Given the description of an element on the screen output the (x, y) to click on. 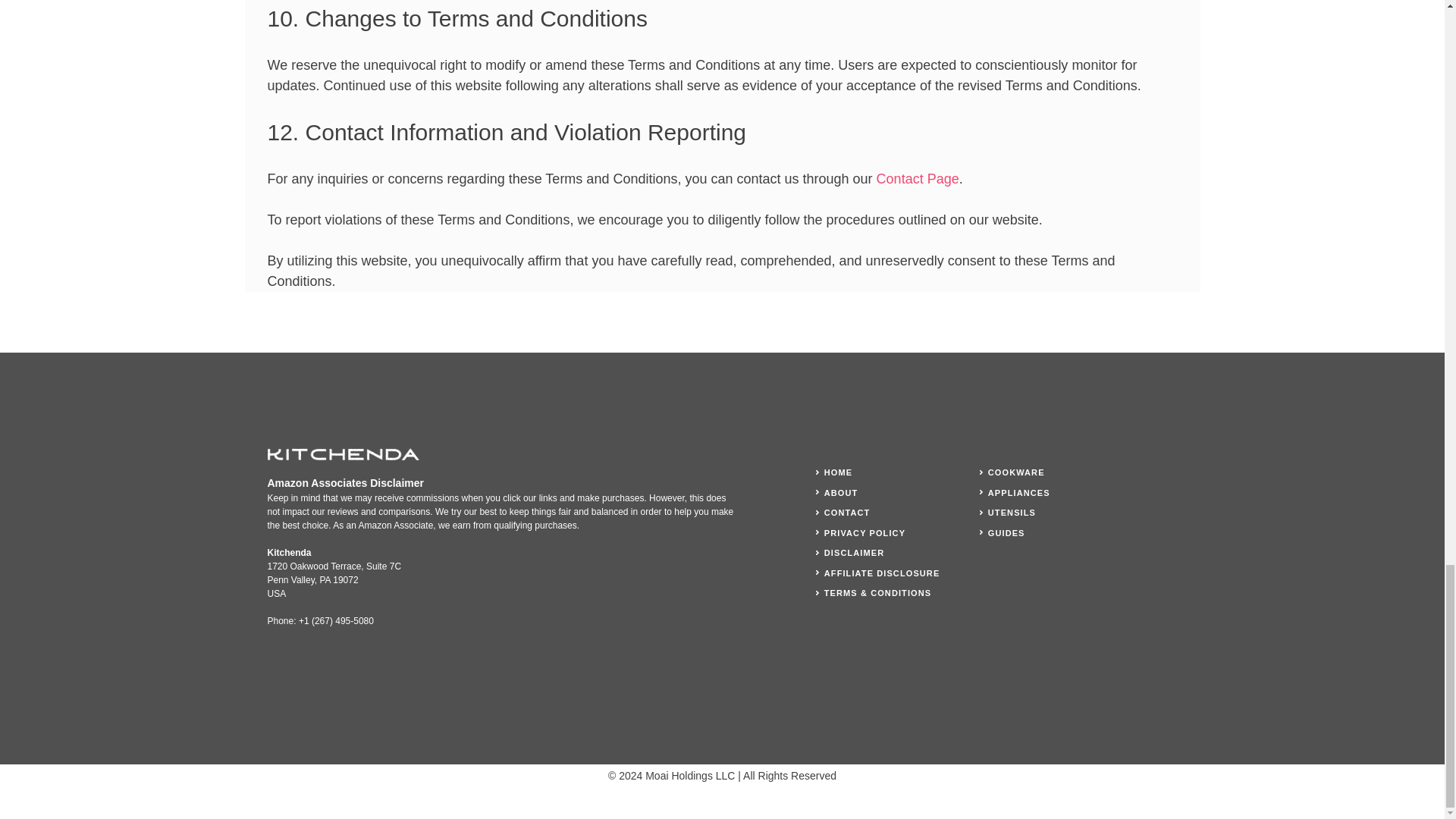
GUIDES (1006, 532)
DISCLAIMER (853, 552)
APPLIANCES (1018, 491)
COOKWARE (1016, 471)
UTENSILS (1011, 511)
Contact Page (917, 178)
AFFILIATE DISCLOSURE (882, 572)
PRIVACY POLICY (864, 532)
CONTACT (847, 511)
ABOUT (841, 491)
HOME (837, 471)
